Given the description of an element on the screen output the (x, y) to click on. 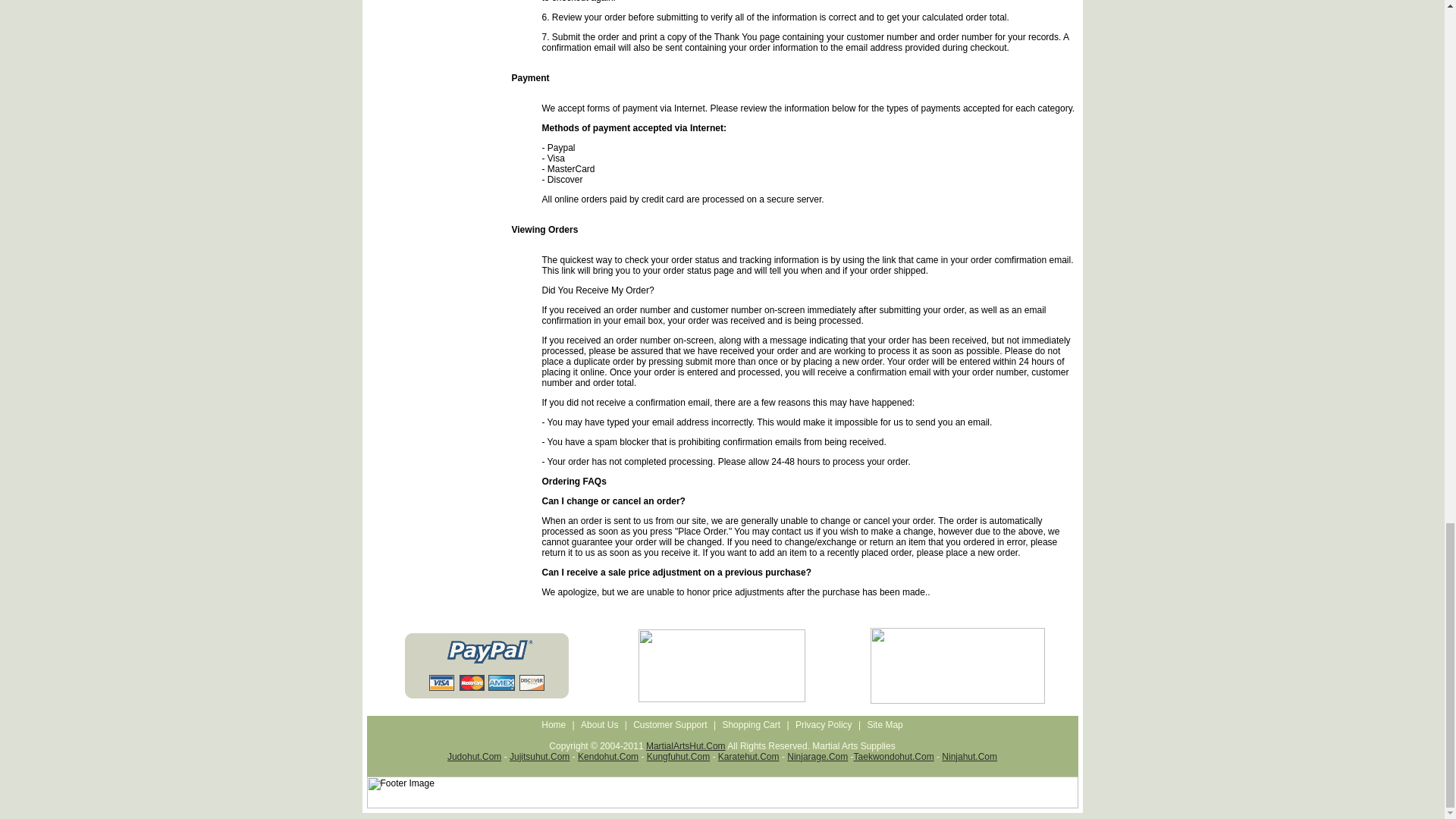
MartialArtsHut.Com (685, 745)
About Us (598, 724)
Shopping Cart (750, 724)
Privacy Policy (824, 724)
Judohut.Com (473, 756)
Customer Support (669, 724)
Site Map (884, 724)
Jujitsuhut.Com (539, 756)
Home (553, 724)
